Given the description of an element on the screen output the (x, y) to click on. 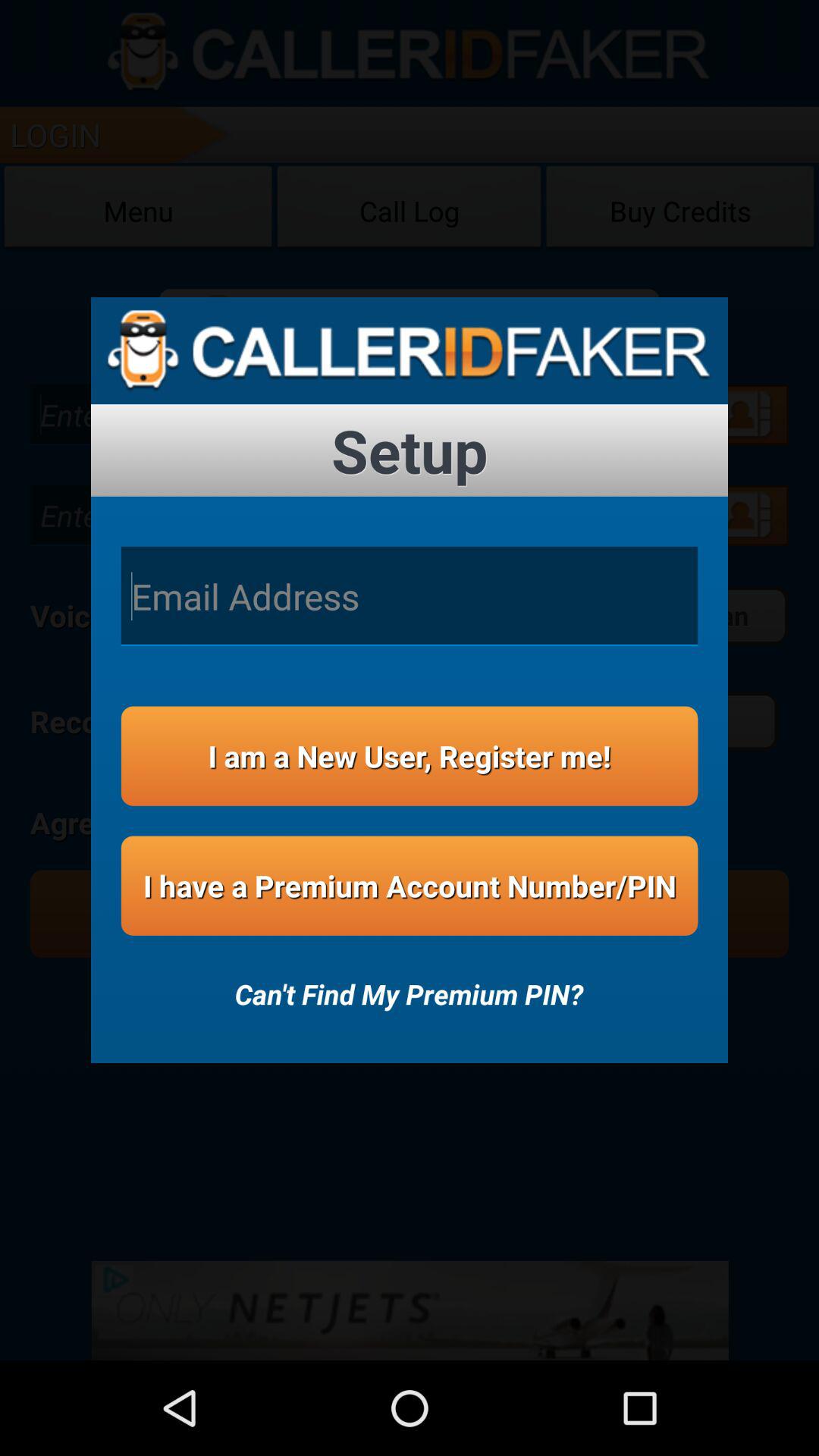
tap app at the bottom (408, 983)
